Given the description of an element on the screen output the (x, y) to click on. 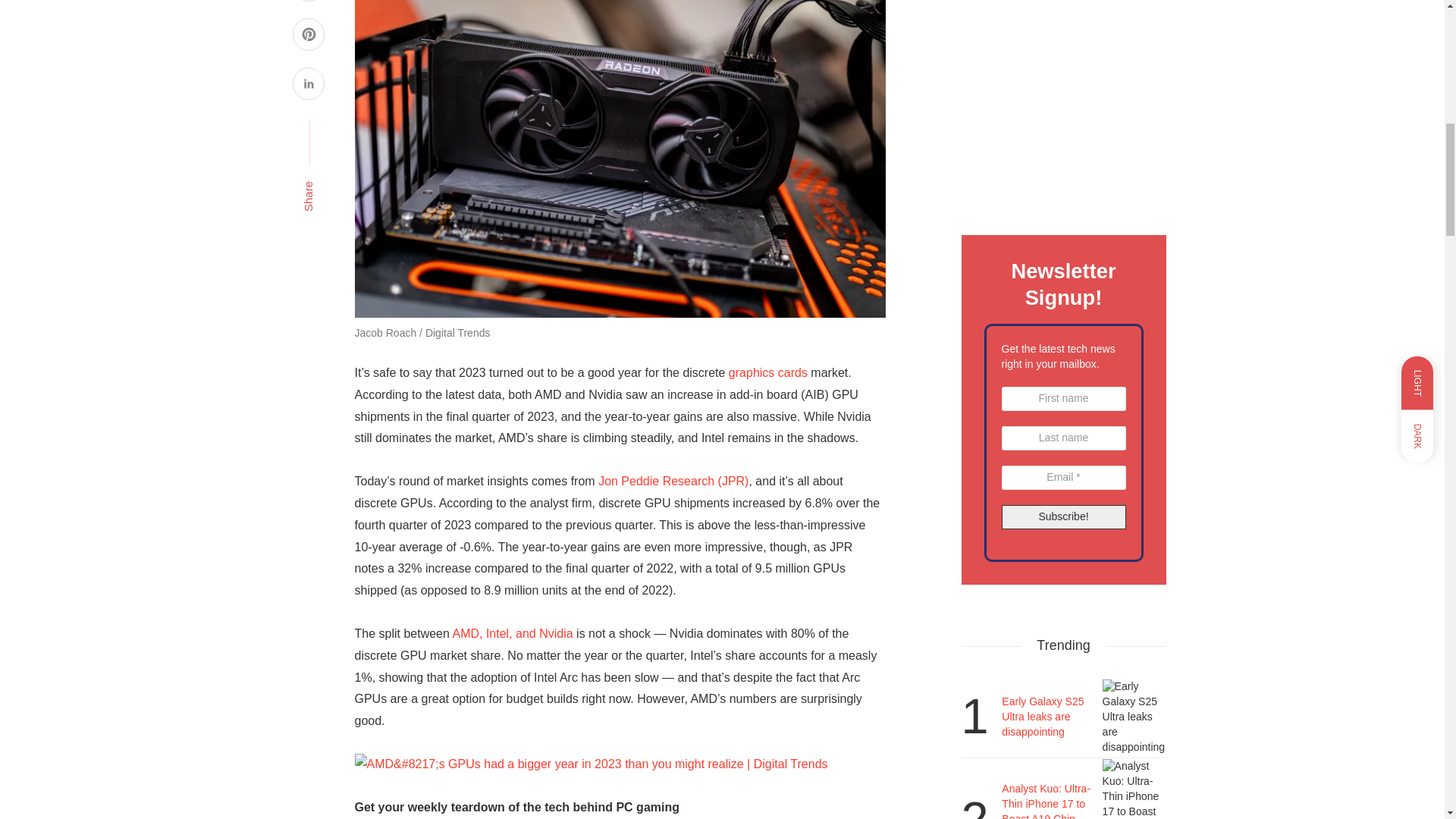
Subscribe! (1063, 517)
